Given the description of an element on the screen output the (x, y) to click on. 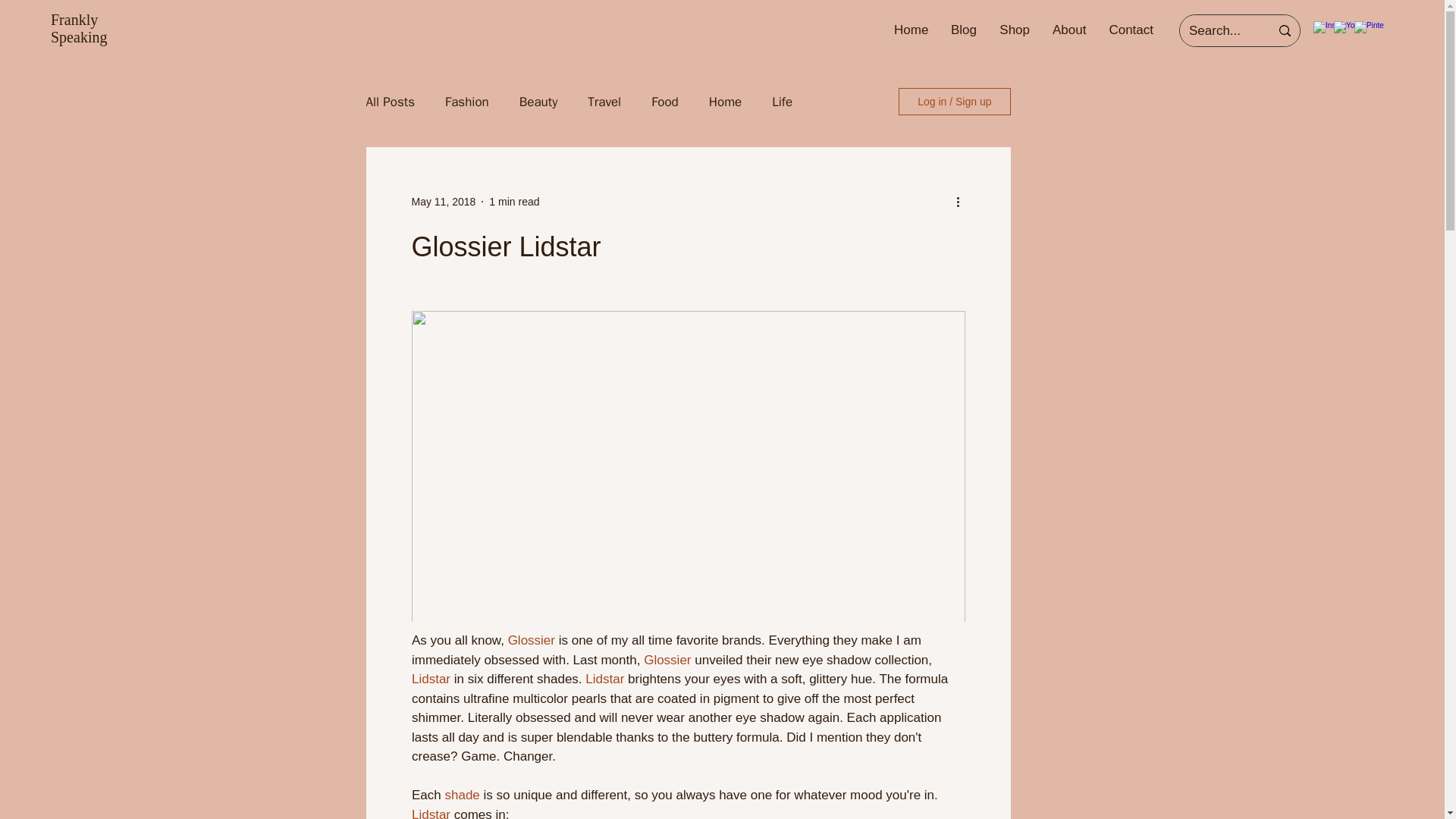
Frankly Speaking (78, 28)
Food (664, 100)
Lidstar (429, 678)
Beauty (538, 100)
Life (781, 100)
1 min read (513, 201)
About (1069, 30)
May 11, 2018 (443, 201)
Glossier (666, 659)
All Posts (389, 100)
